Given the description of an element on the screen output the (x, y) to click on. 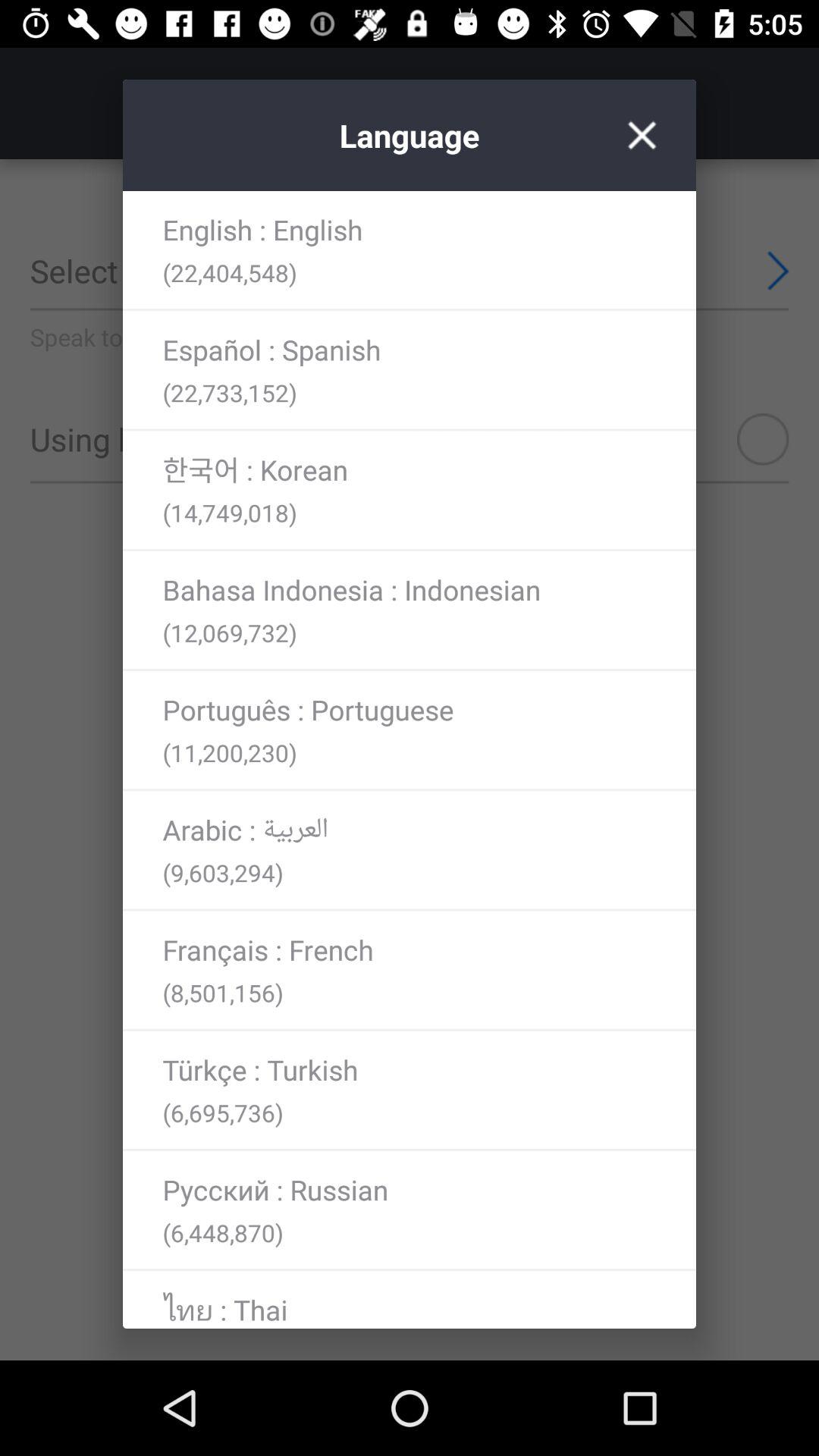
exit the menu (642, 135)
